Given the description of an element on the screen output the (x, y) to click on. 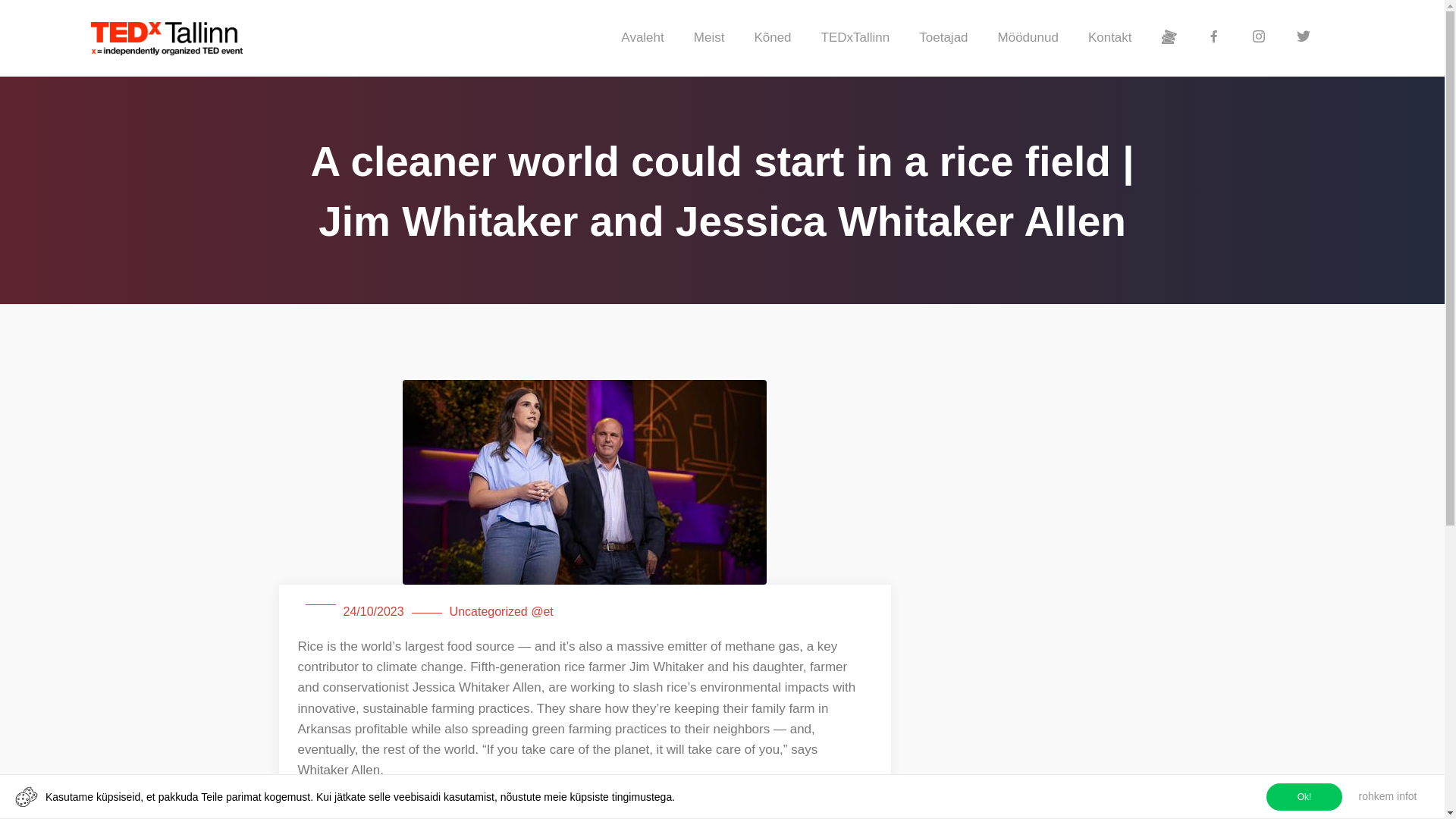
Toetajad (944, 38)
rohkem infot (1387, 795)
Avaleht (643, 38)
Kontakt (1111, 38)
Ok! (1304, 796)
TEDxTallinn (857, 38)
